Given the description of an element on the screen output the (x, y) to click on. 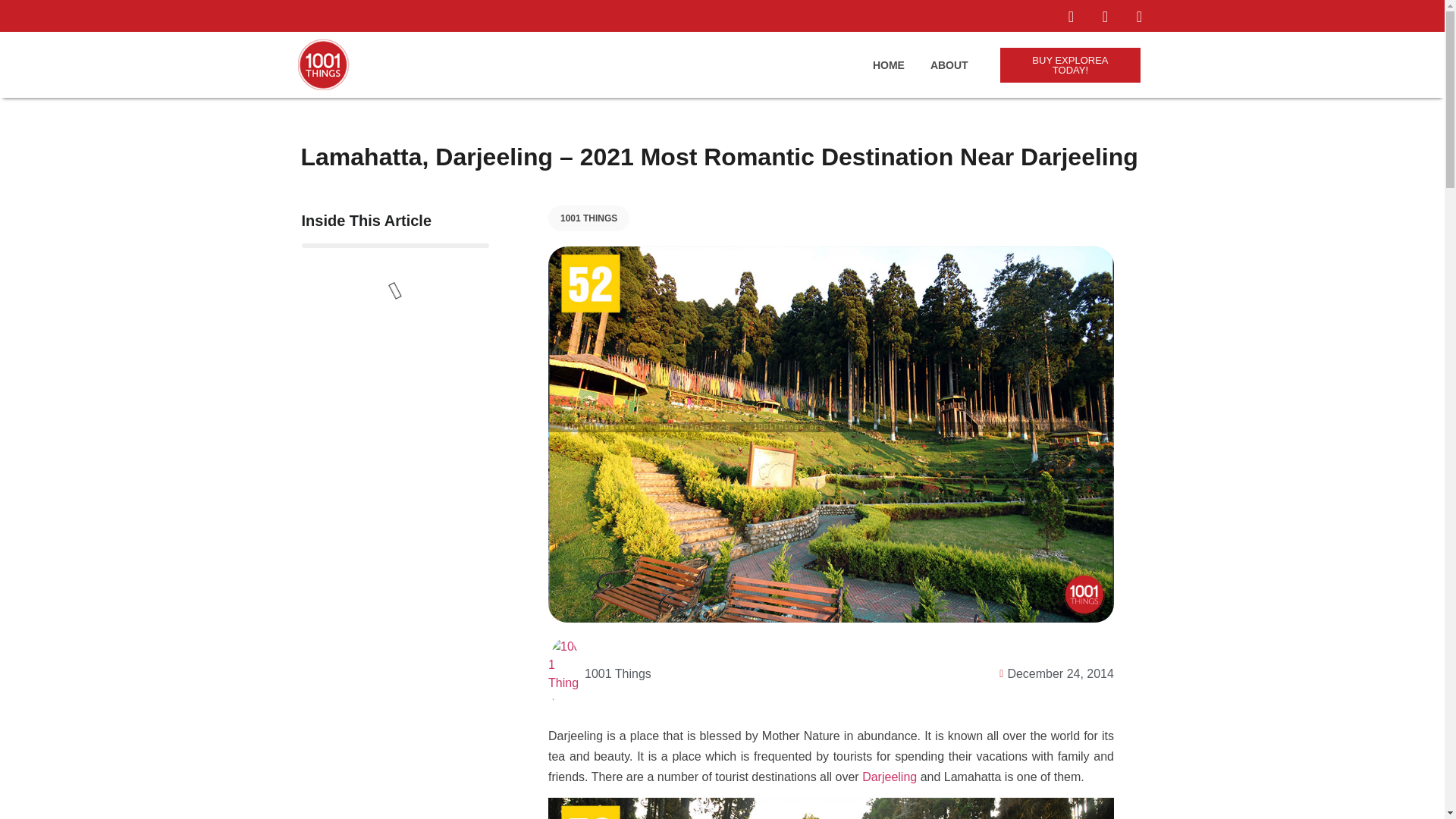
1001 Things (599, 674)
Darjeeling (889, 776)
HOME (887, 64)
December 24, 2014 (1052, 674)
ABOUT (948, 64)
BUY EXPLOREA TODAY! (1070, 64)
